Given the description of an element on the screen output the (x, y) to click on. 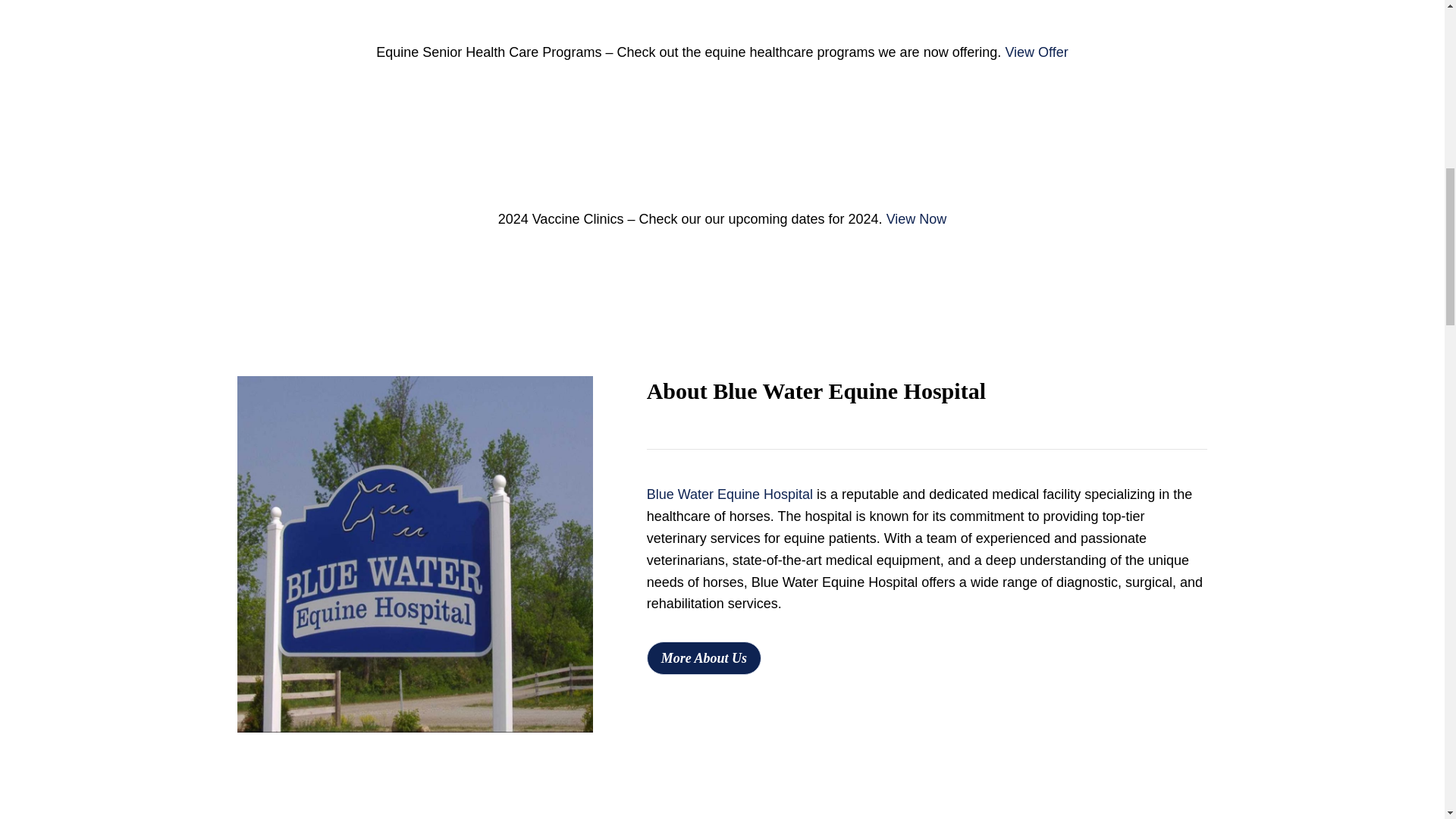
Blue Water Equine Hospital (729, 494)
View Offer (1035, 51)
More About Us (703, 657)
sign board (413, 553)
View Now (916, 218)
